Given the description of an element on the screen output the (x, y) to click on. 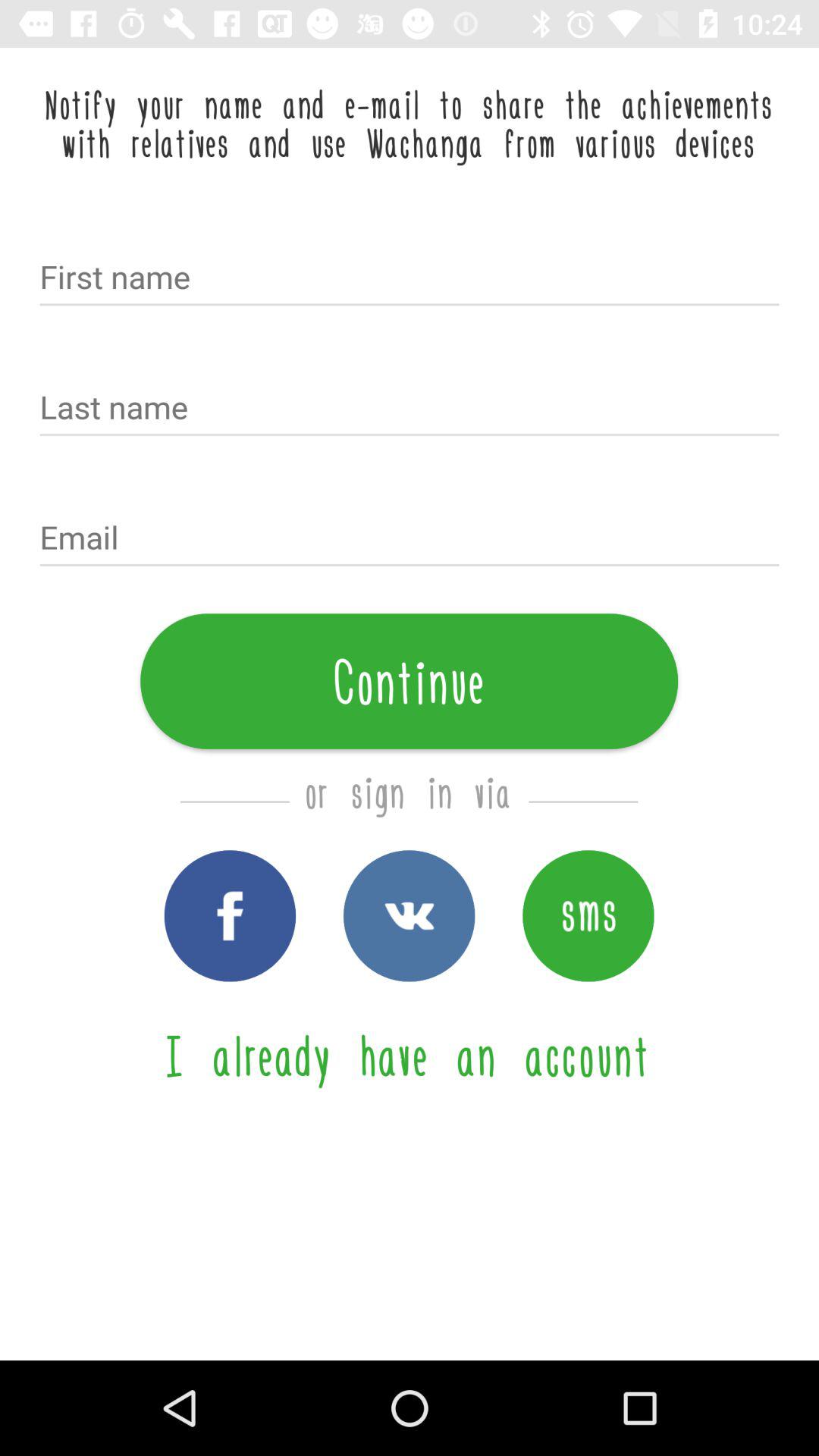
turn off the icon above or sign in (408, 681)
